Given the description of an element on the screen output the (x, y) to click on. 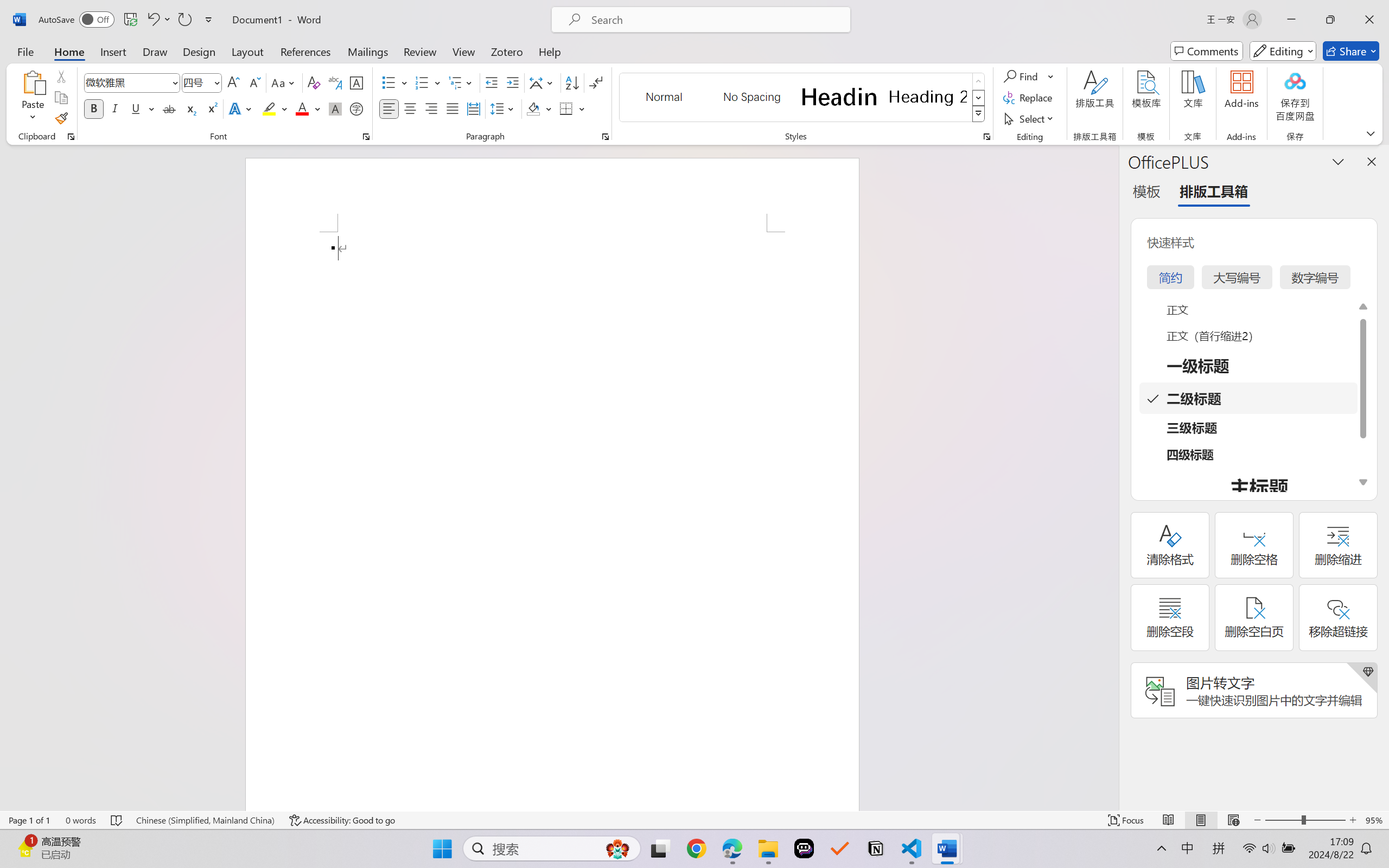
Class: MsoCommandBar (694, 819)
Language Chinese (Simplified, Mainland China) (205, 819)
